Given the description of an element on the screen output the (x, y) to click on. 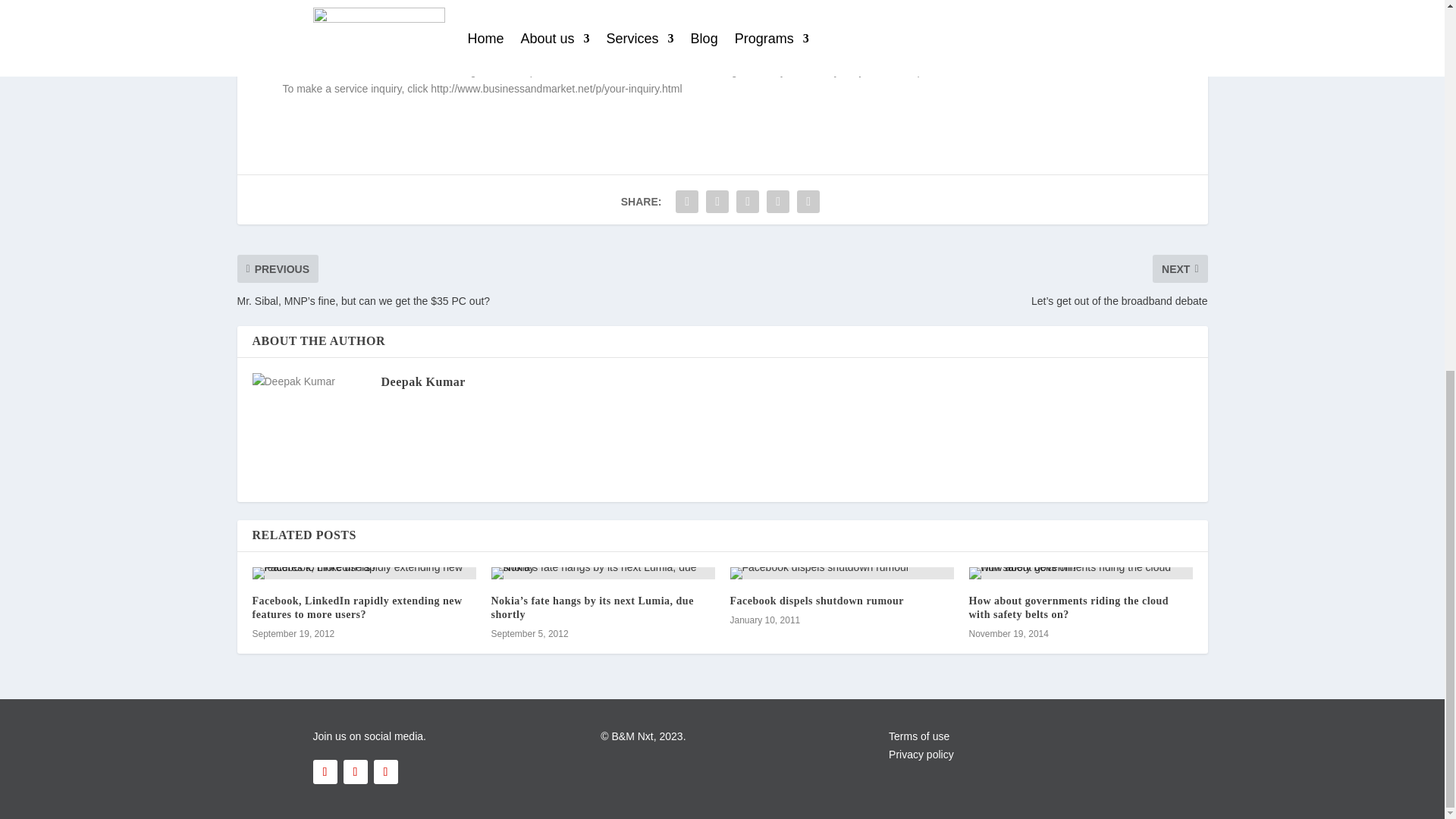
Follow on X (384, 771)
How about governments riding the cloud with safety belts on? (1080, 573)
Facebook dispels shutdown rumour (841, 573)
Facebook dispels shutdown rumour (816, 600)
Follow on Facebook (324, 771)
How about governments riding the cloud with safety belts on? (1069, 607)
Deepak Kumar (422, 381)
Follow on LinkedIn (354, 771)
